Given the description of an element on the screen output the (x, y) to click on. 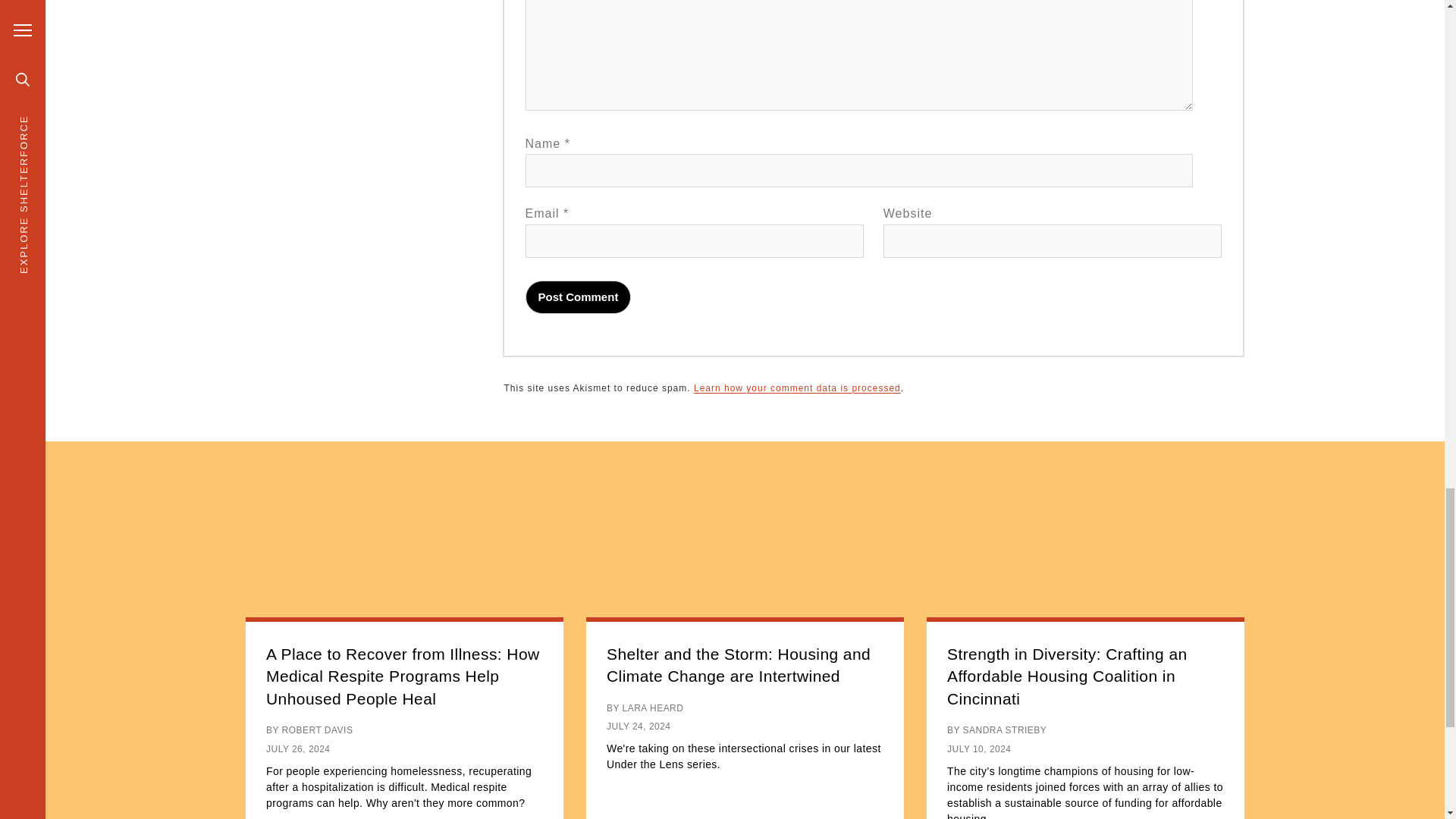
Post Comment (578, 296)
